Given the description of an element on the screen output the (x, y) to click on. 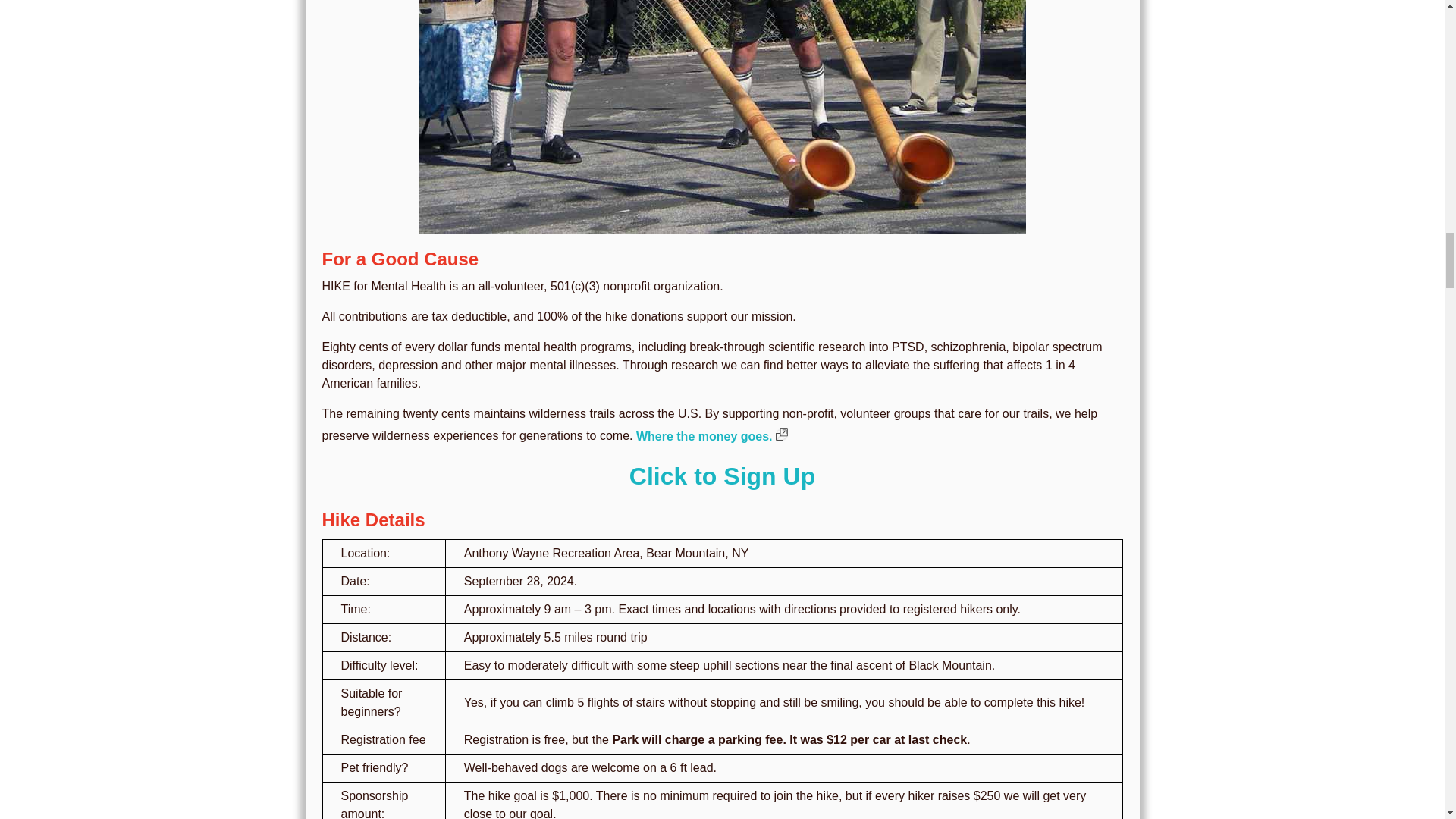
Click to Sign Up (721, 475)
Register for a hike (721, 475)
Where the money goes. (711, 436)
